Given the description of an element on the screen output the (x, y) to click on. 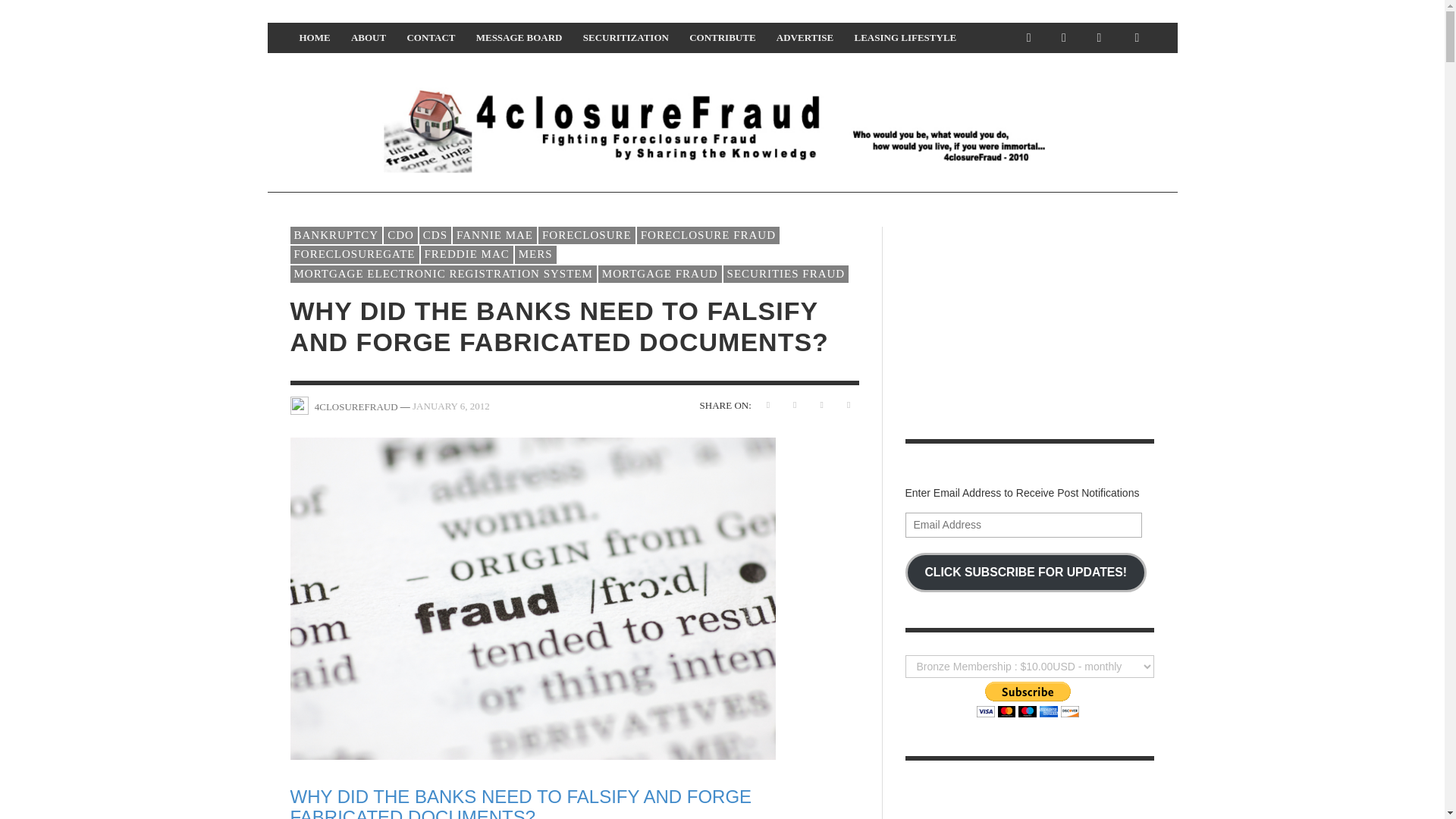
View all posts in securities fraud (785, 274)
MERS (535, 254)
MESSAGE BOARD (519, 37)
View all posts in Mortgage Fraud (660, 274)
View all posts in bankruptcy (335, 235)
ADVERTISE (805, 37)
ABOUT (368, 37)
SECURITIES FRAUD (785, 274)
RSS (1063, 37)
